Given the description of an element on the screen output the (x, y) to click on. 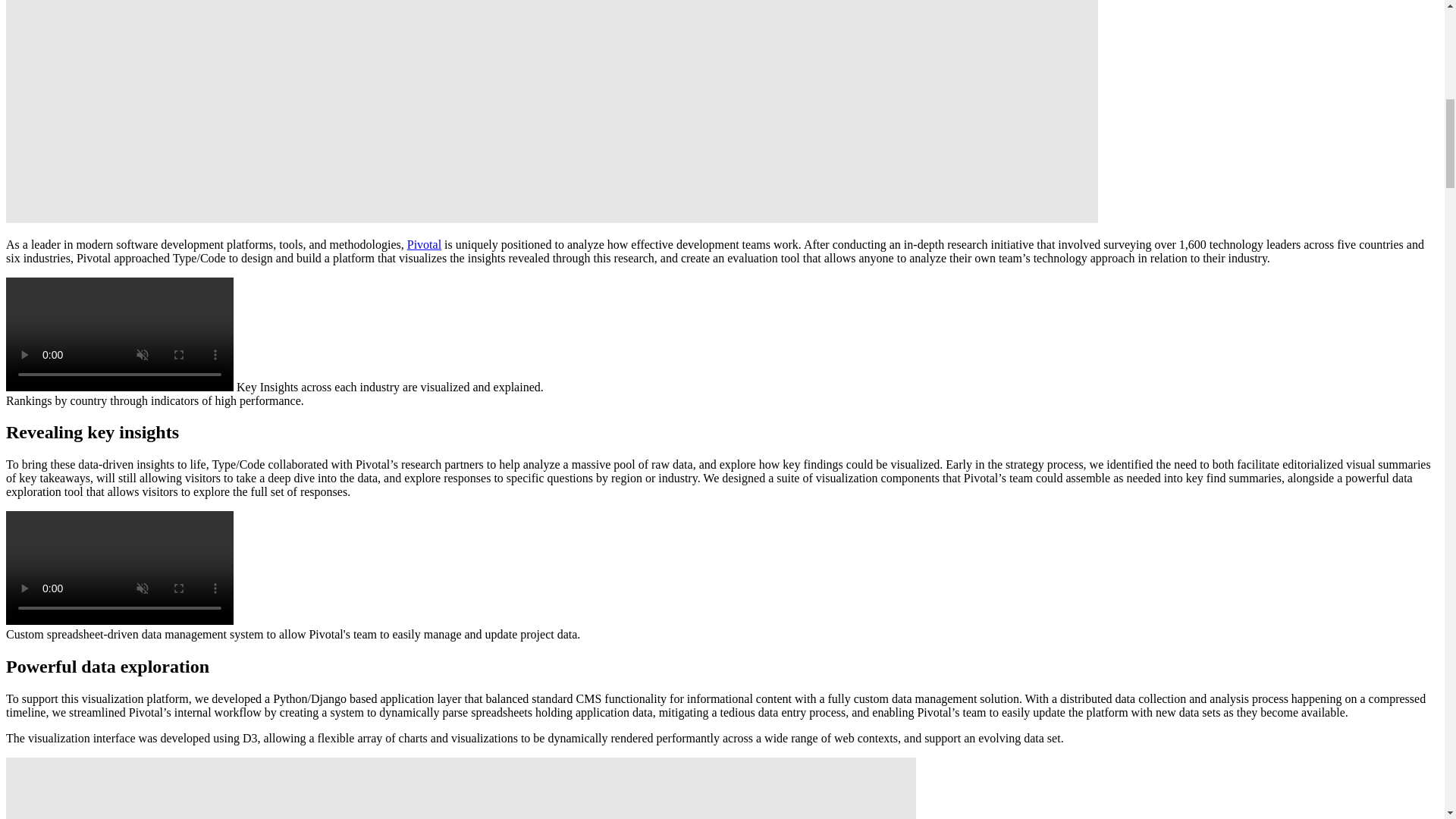
Pivotal (424, 244)
